Given the description of an element on the screen output the (x, y) to click on. 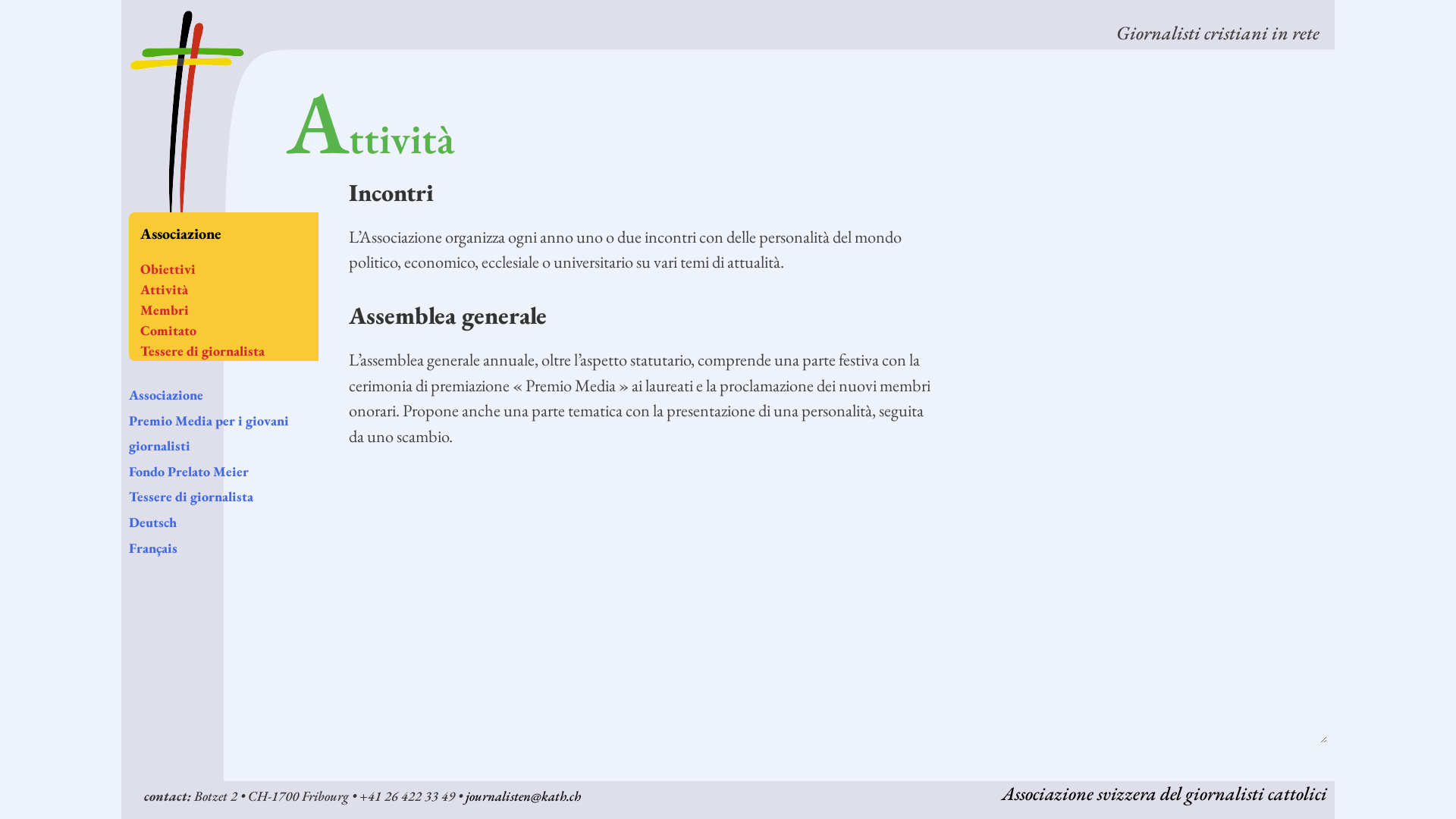
journalisten@kath.ch Element type: text (522, 795)
Membri Element type: text (164, 309)
Associazione Element type: text (165, 394)
Tessere di giornalista Element type: text (190, 496)
Fondo Prelato Meier Element type: text (188, 471)
Tessere di giornalista Element type: text (202, 350)
Comitato Element type: text (168, 329)
Obiettivi Element type: text (167, 268)
Premio Media per i giovani giornalisti Element type: text (208, 433)
Deutsch Element type: text (152, 521)
Associazione svizzera del giornalisti cattolici Element type: text (1164, 793)
